Given the description of an element on the screen output the (x, y) to click on. 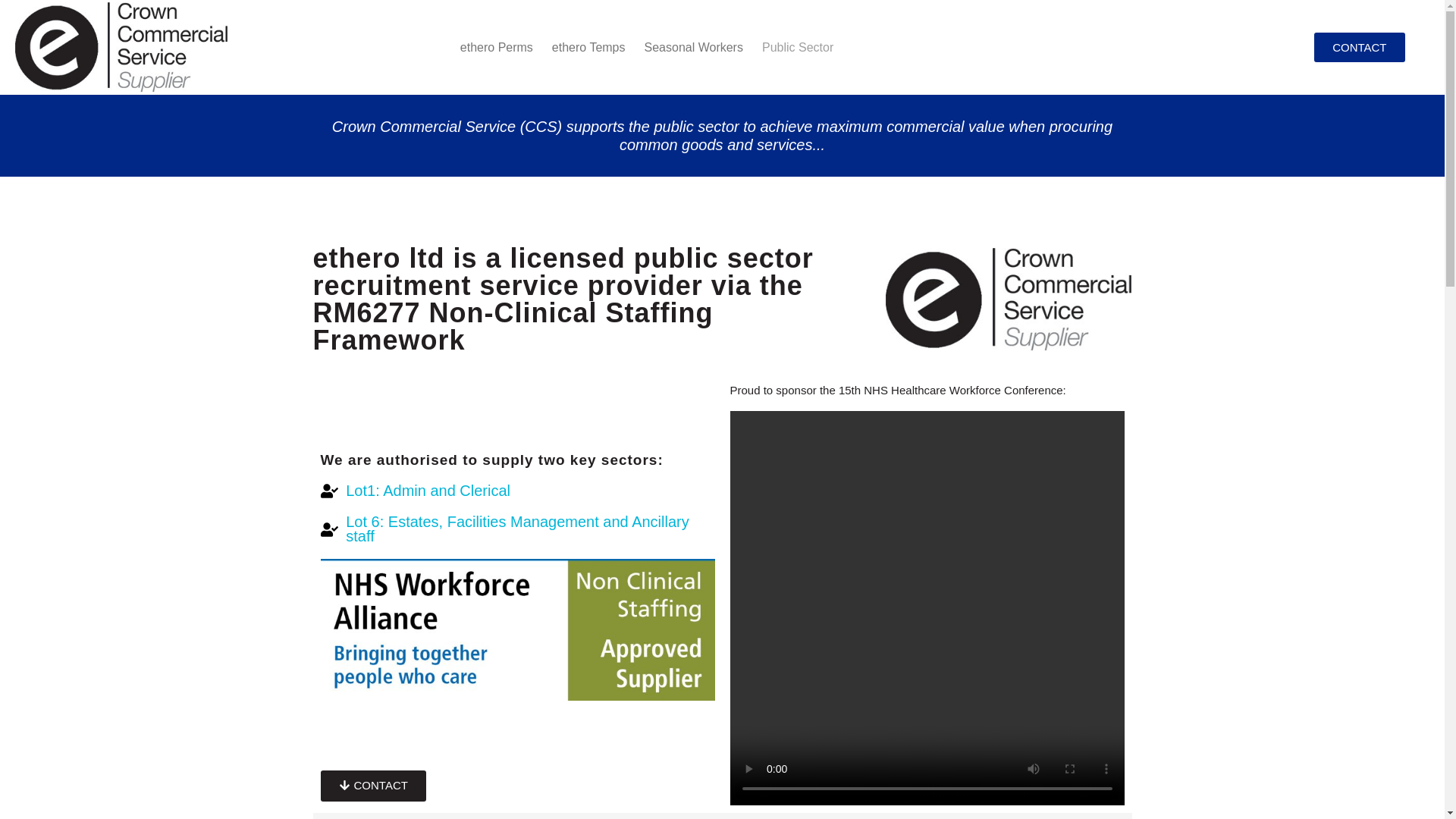
CONTACT (372, 785)
ethero Temps (588, 47)
Public Sector (797, 47)
ethero Perms (496, 47)
Seasonal Workers (694, 47)
CONTACT (1359, 47)
